Given the description of an element on the screen output the (x, y) to click on. 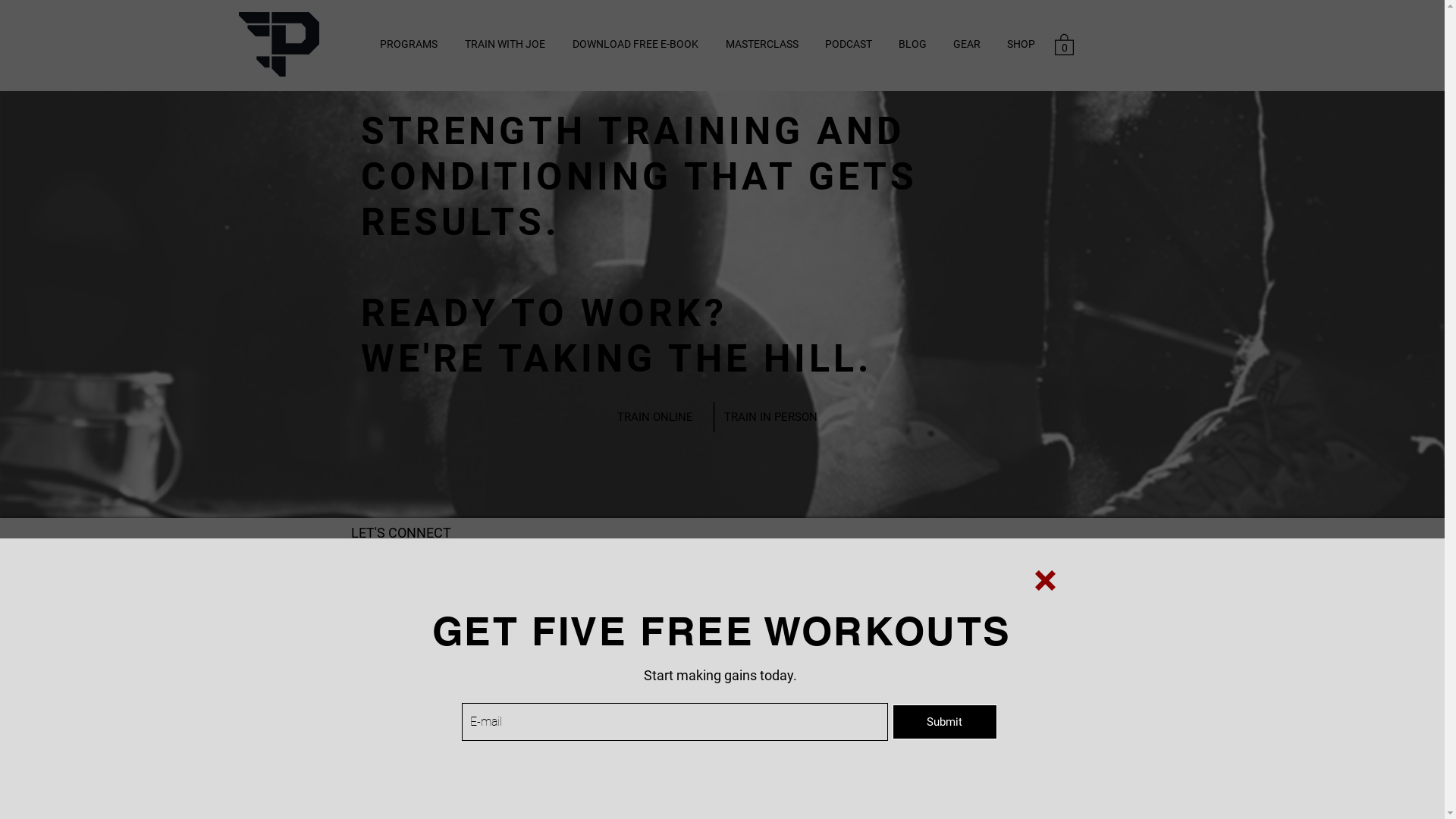
TRAIN ONLINE Element type: text (654, 416)
MASTERCLASS Element type: text (761, 44)
Submit Element type: text (943, 721)
BLOG Element type: text (912, 44)
PODCAST Element type: text (847, 44)
SHOP Element type: text (1020, 44)
Back to site Element type: hover (1044, 580)
TRAIN WITH JOE Element type: text (504, 44)
GEAR Element type: text (967, 44)
TRAIN IN PERSON Element type: text (769, 416)
0 Element type: text (1063, 43)
PROGRAMS Element type: text (407, 44)
DOWNLOAD FREE E-BOOK Element type: text (634, 44)
joe@3phasefitness.ca Element type: text (402, 594)
